Given the description of an element on the screen output the (x, y) to click on. 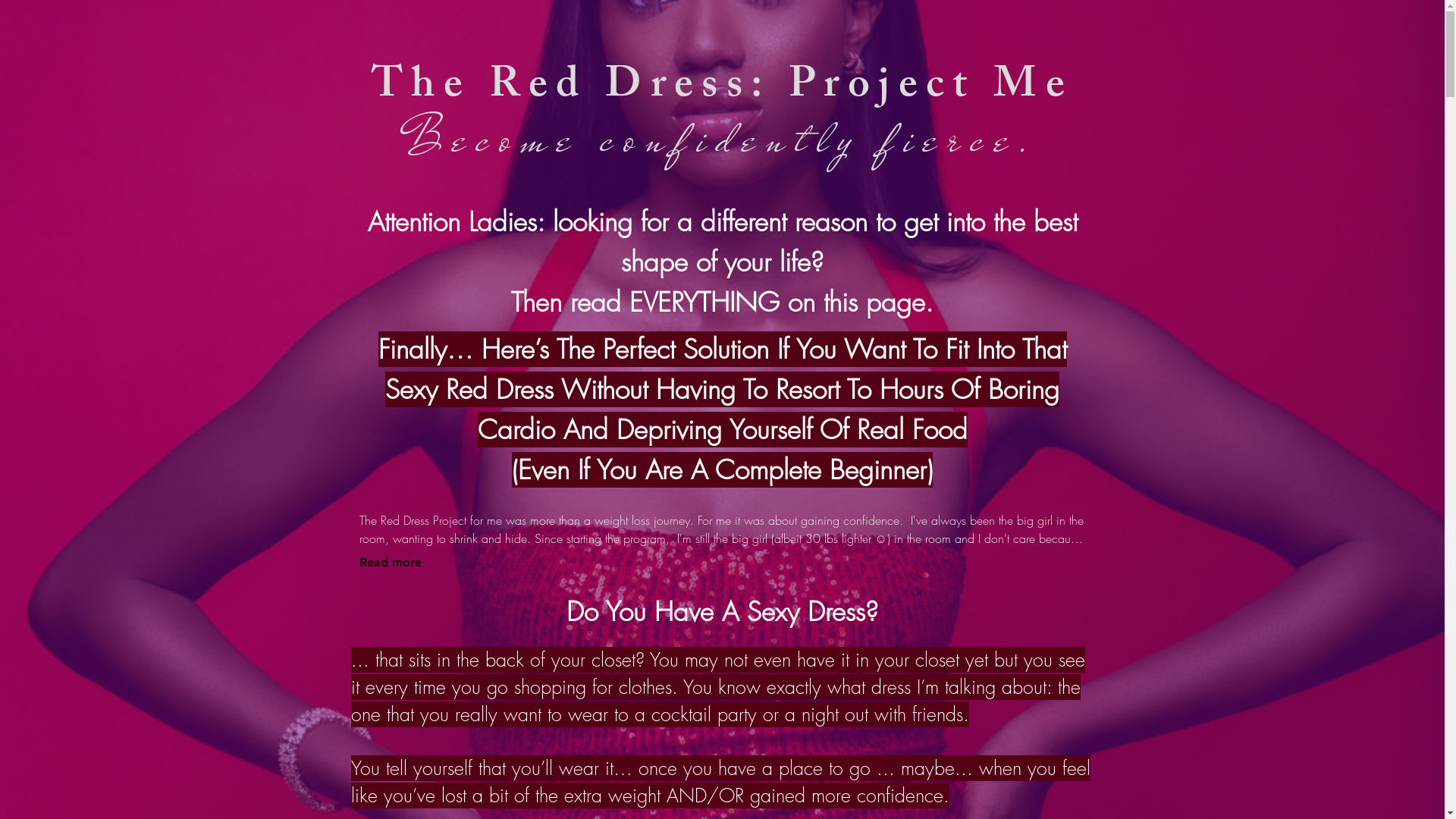
Read more Element type: text (390, 562)
